Given the description of an element on the screen output the (x, y) to click on. 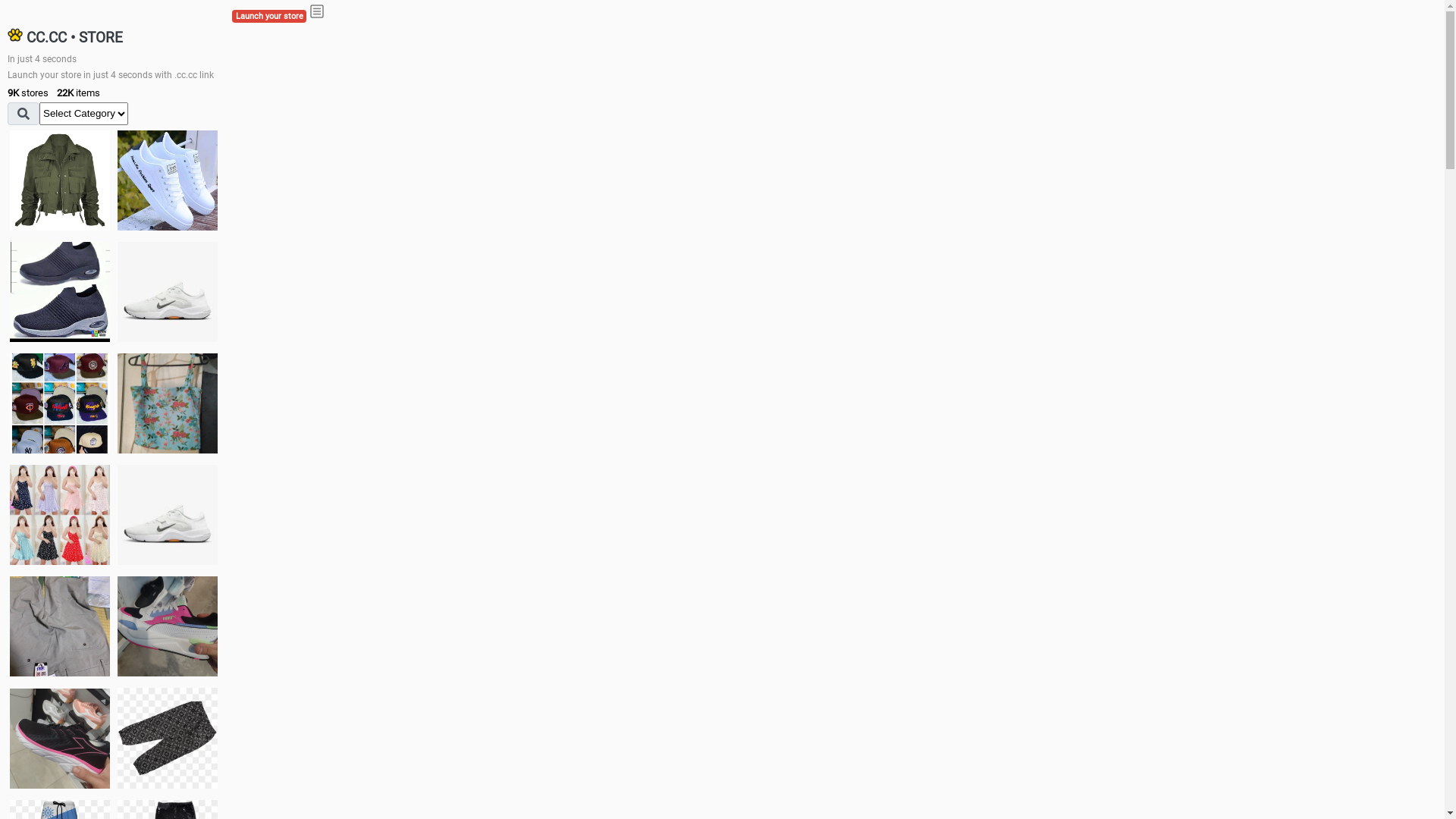
Things we need Element type: hover (59, 403)
Zapatillas Element type: hover (59, 738)
Shoes Element type: hover (167, 514)
Launch your store Element type: text (269, 15)
jacket Element type: hover (59, 180)
Ukay cloth Element type: hover (167, 403)
white shoes Element type: hover (167, 180)
Zapatillas pumas Element type: hover (167, 626)
Short pant Element type: hover (167, 737)
shoes for boys Element type: hover (59, 291)
Dress/square nect top Element type: hover (59, 514)
Shoes for boys Element type: hover (167, 291)
